Given the description of an element on the screen output the (x, y) to click on. 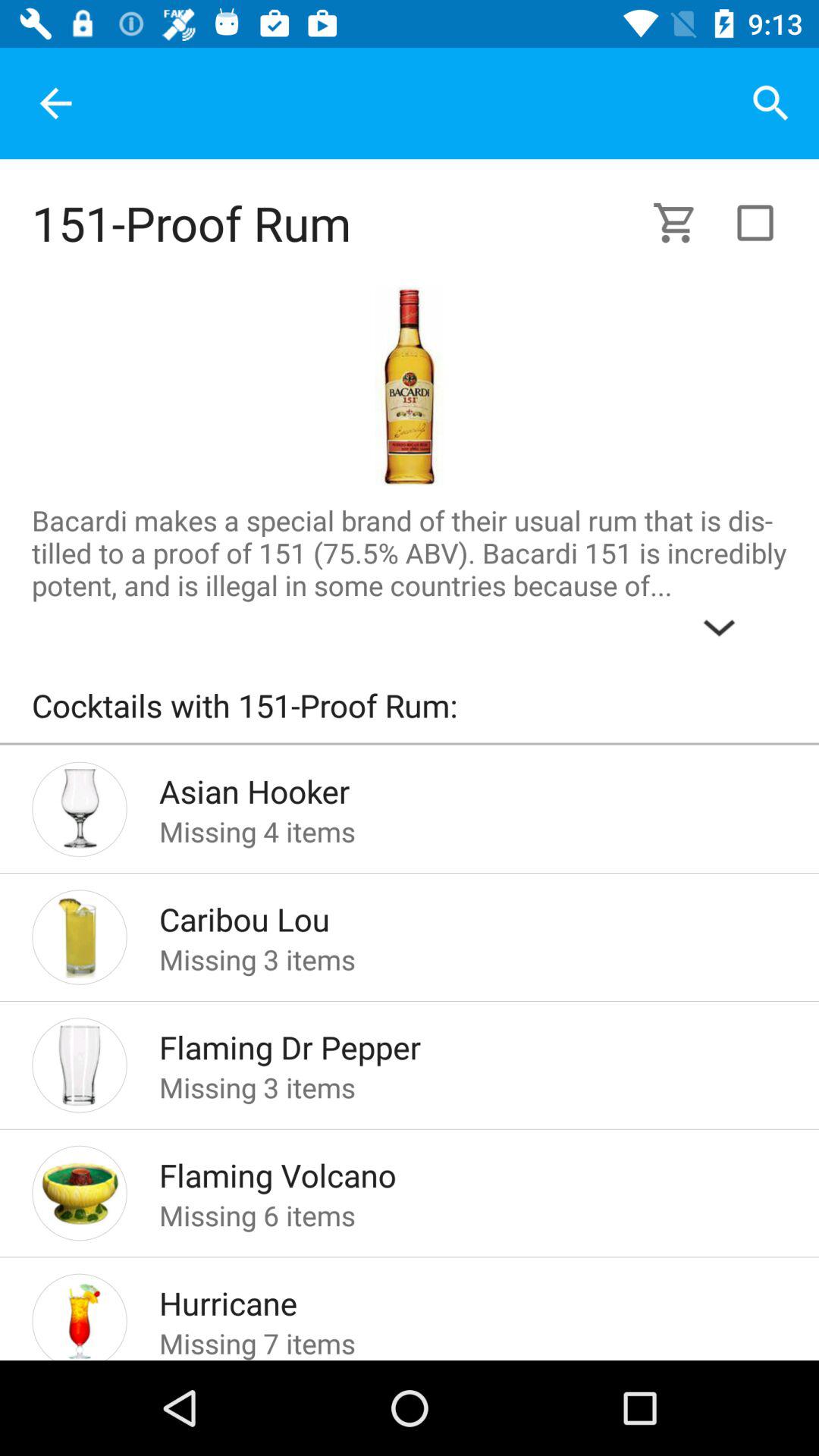
turn on the item above missing 4 items icon (449, 786)
